Given the description of an element on the screen output the (x, y) to click on. 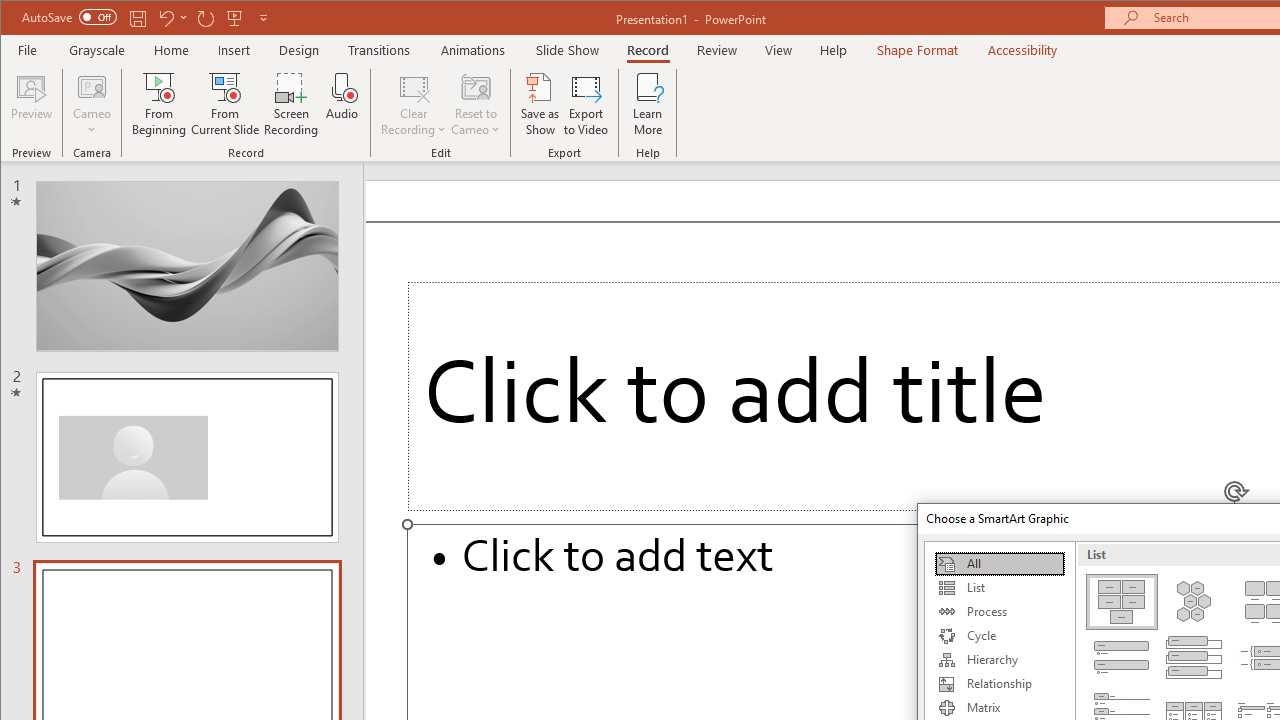
Reset to Cameo (476, 104)
Save as Show (539, 104)
Process (999, 611)
